Given the description of an element on the screen output the (x, y) to click on. 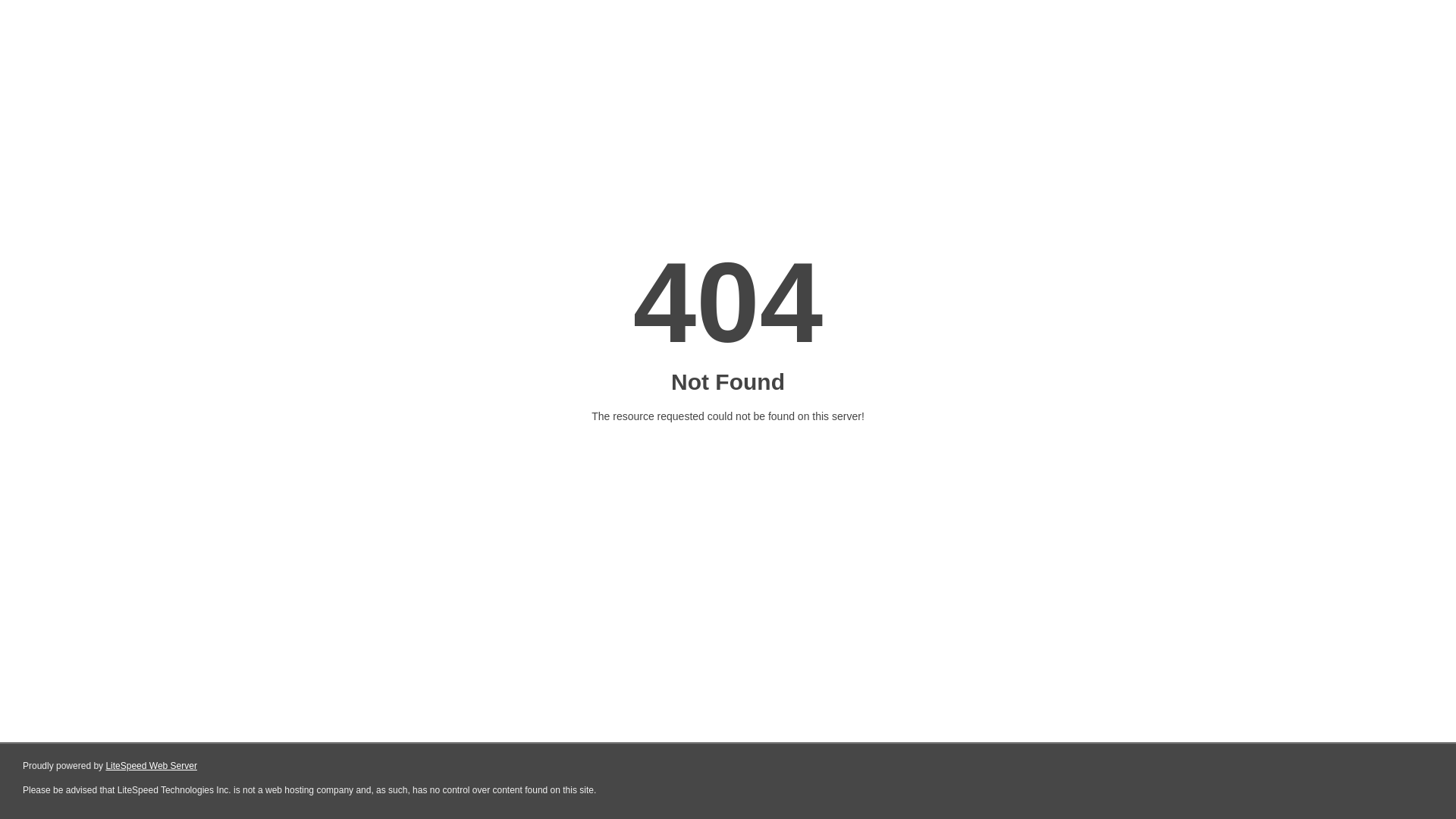
LiteSpeed Web Server Element type: text (151, 765)
